Given the description of an element on the screen output the (x, y) to click on. 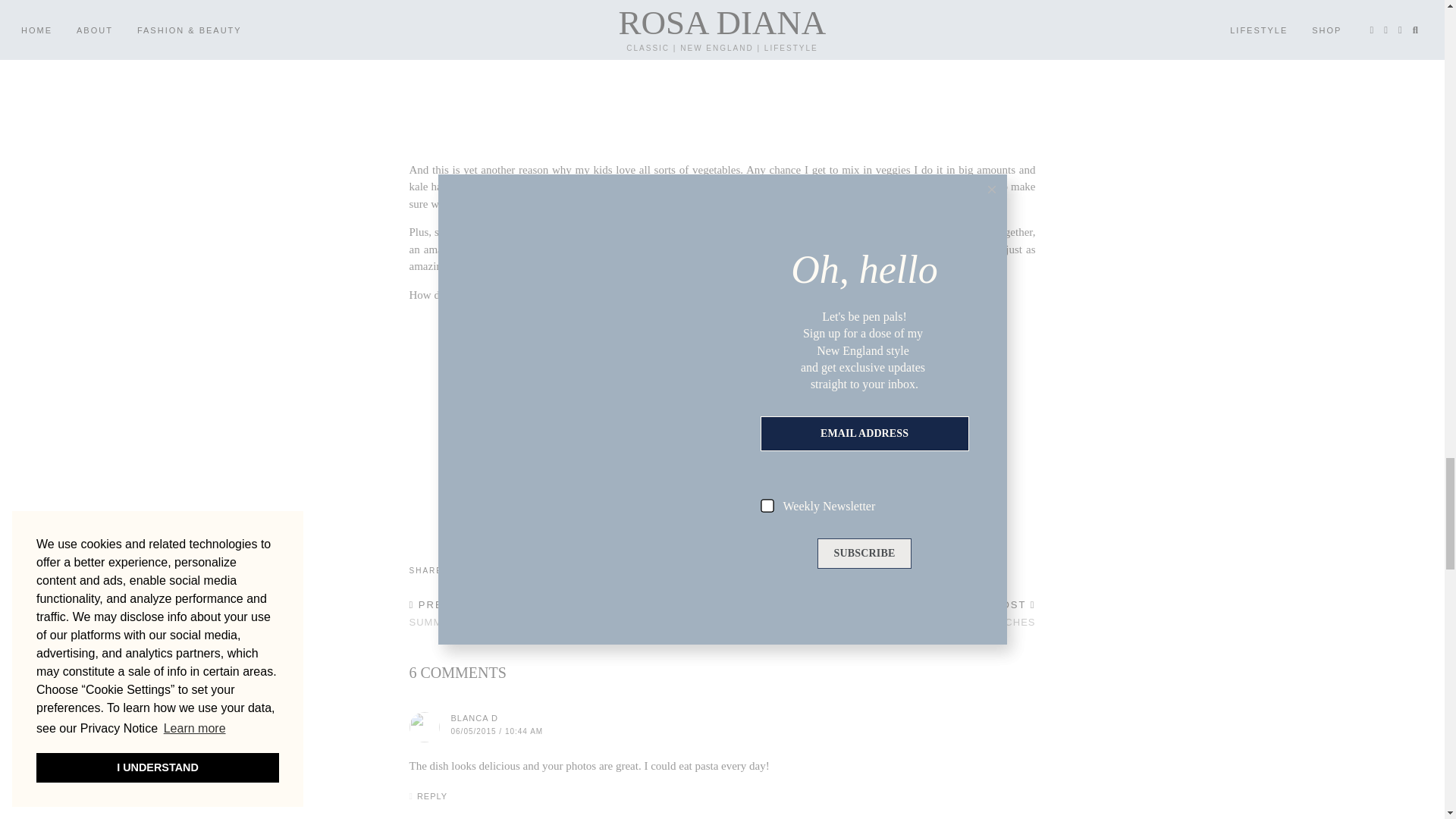
Share on Facebook (456, 570)
Share on tumblr (495, 570)
Share on Pinterest (482, 570)
